Given the description of an element on the screen output the (x, y) to click on. 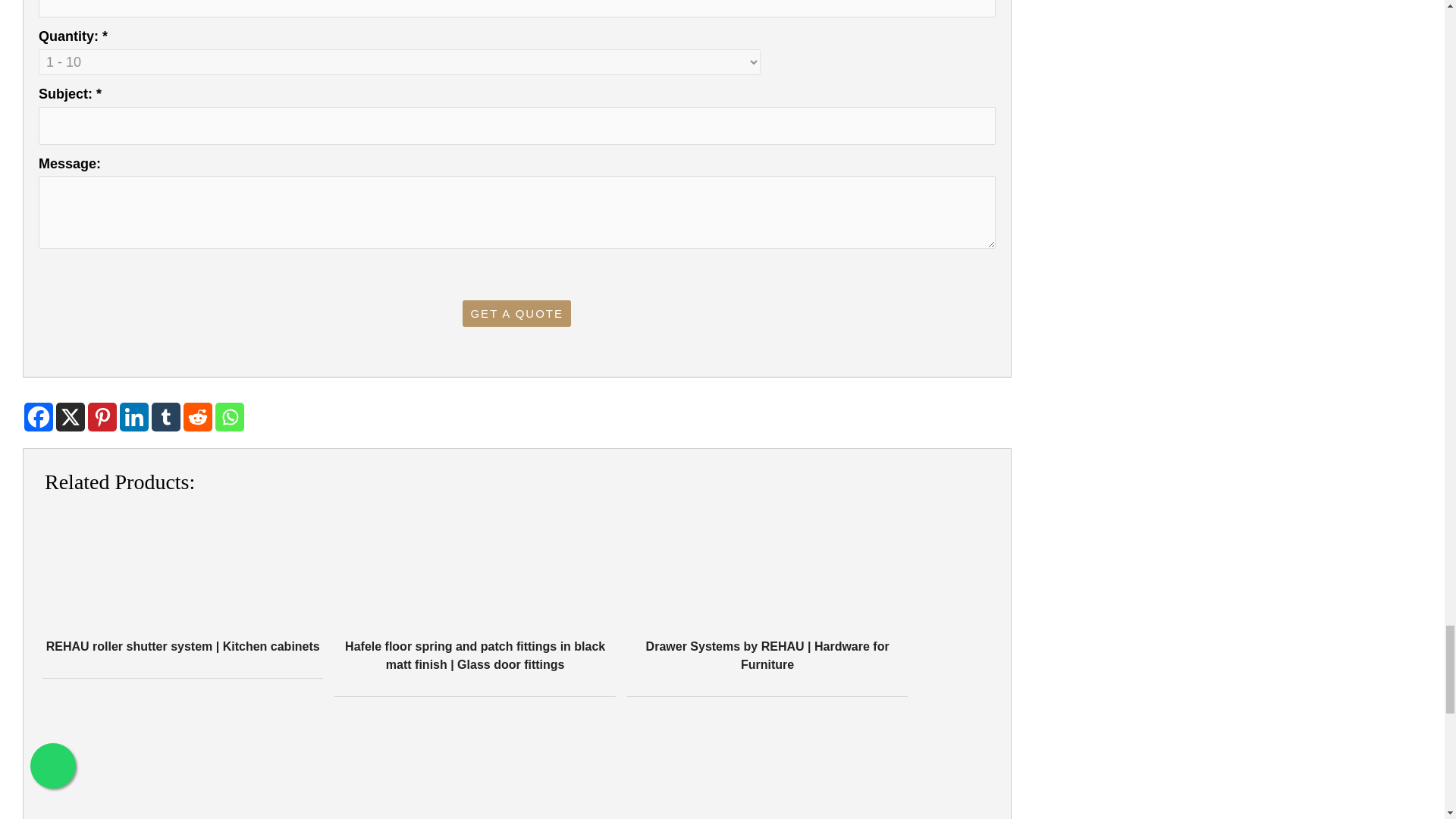
Facebook (38, 416)
Tumblr (165, 416)
X (70, 416)
Linkedin (133, 416)
Get a Quote (516, 313)
Reddit (197, 416)
Whatsapp (229, 416)
Pinterest (101, 416)
